Given the description of an element on the screen output the (x, y) to click on. 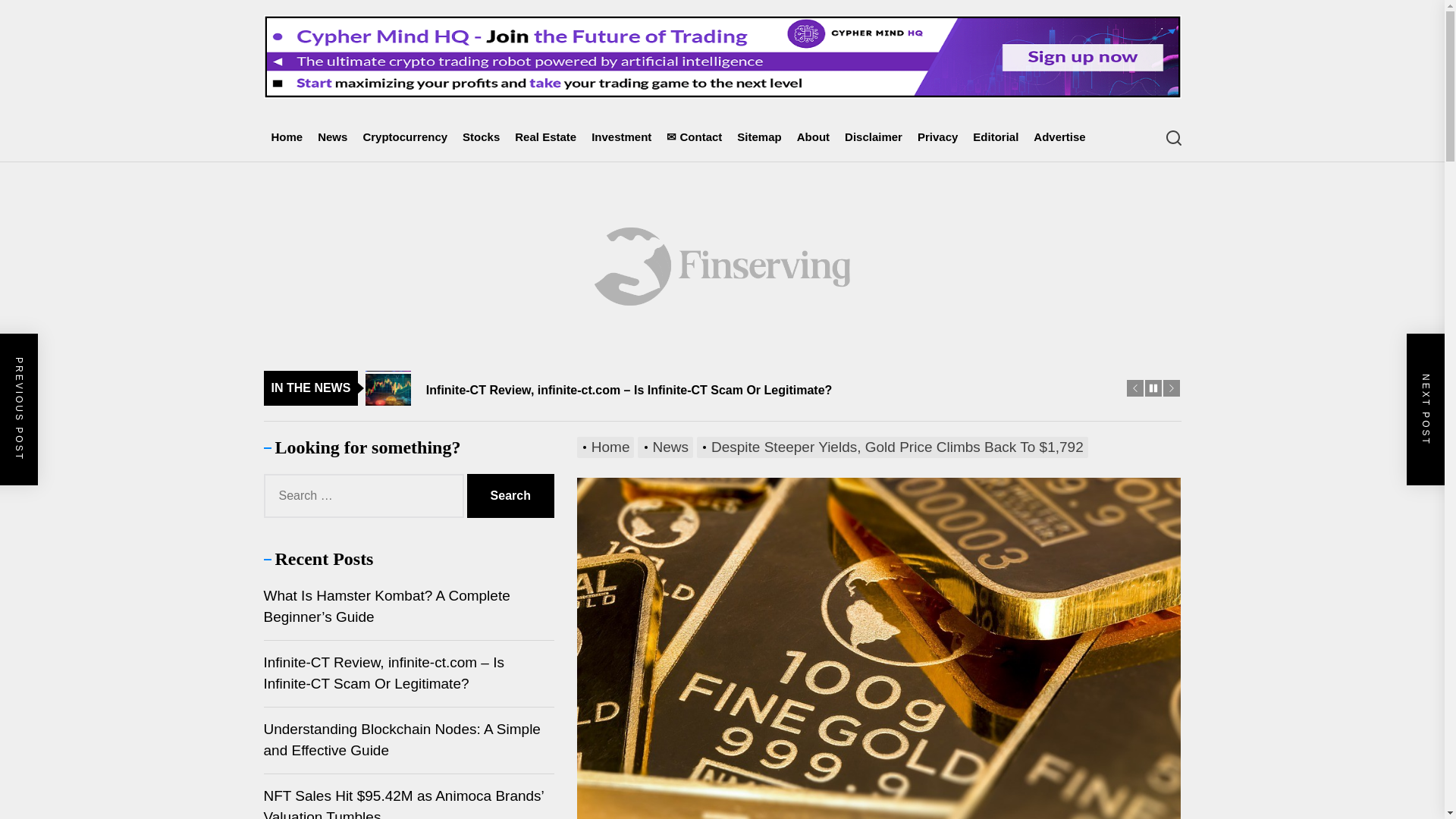
About (813, 137)
Sitemap (759, 137)
Disclaimer (873, 137)
Search (510, 495)
Search (510, 495)
Header AD Image (721, 56)
Editorial (995, 137)
Privacy (937, 137)
Cryptocurrency (404, 137)
Stocks (480, 137)
